Given the description of an element on the screen output the (x, y) to click on. 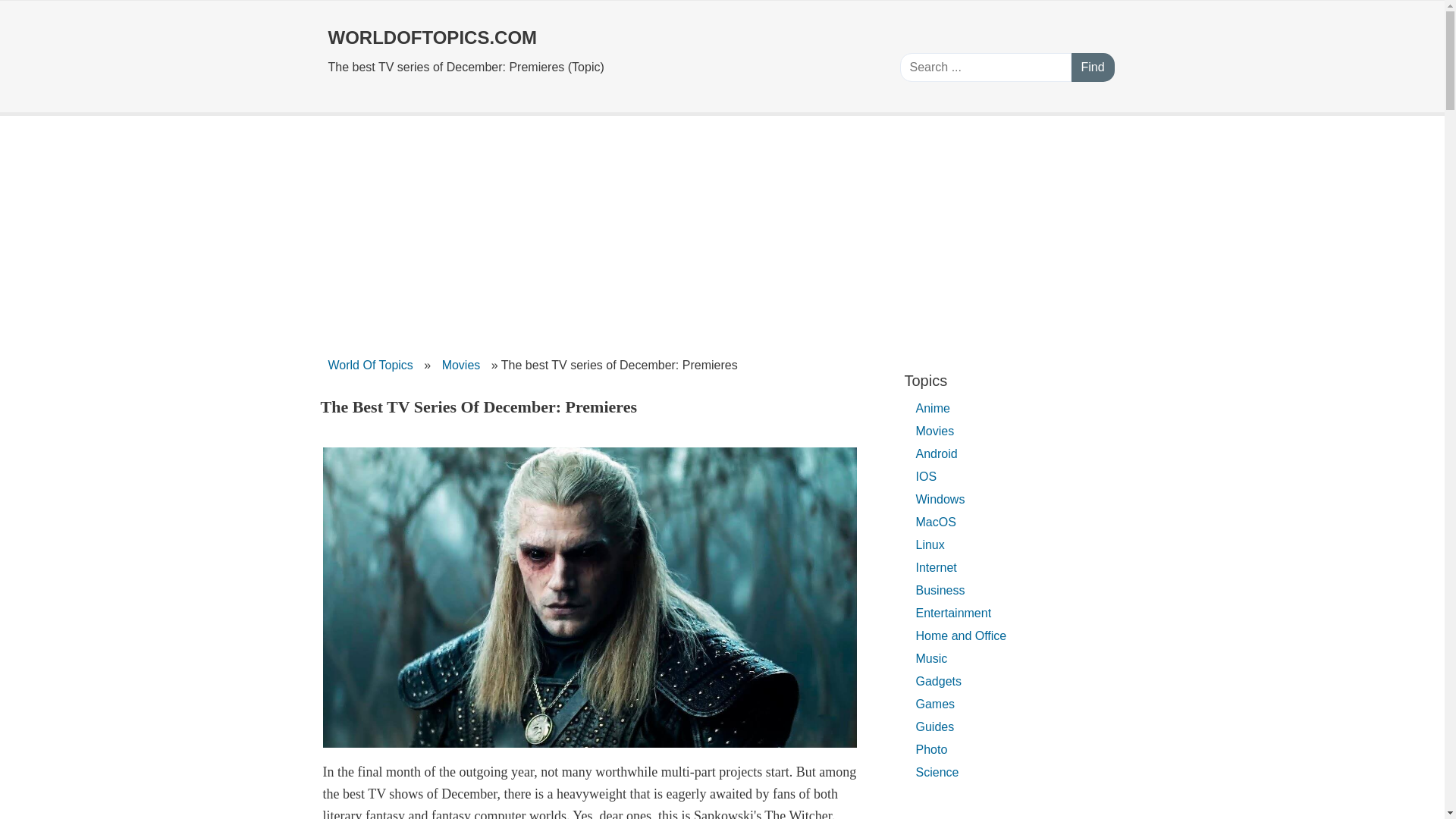
Android (936, 453)
Music (931, 658)
Movies (935, 431)
Find (1091, 67)
World Of Topics (370, 364)
Photo (931, 748)
Find (1091, 67)
Guides (935, 726)
Gadgets (938, 680)
Science (937, 771)
Linux (930, 544)
MacOS (935, 521)
IOS (926, 476)
Entertainment (953, 612)
Games (935, 703)
